Given the description of an element on the screen output the (x, y) to click on. 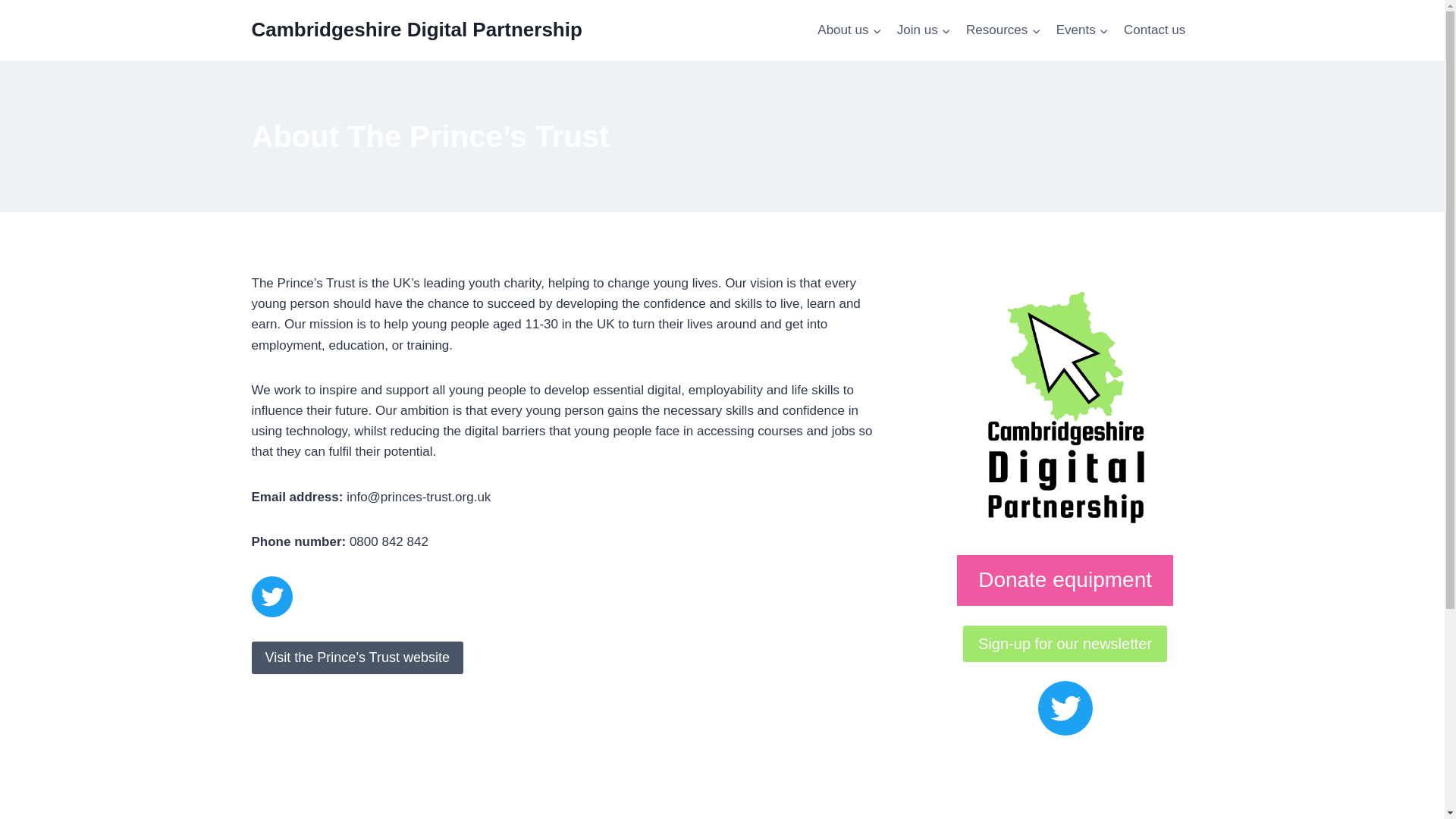
Contact us (1154, 30)
Cambridgeshire Digital Partnership (416, 29)
About us (848, 30)
Resources (1003, 30)
Donate equipment (1064, 580)
Events (1081, 30)
Sign-up for our newsletter (1064, 643)
Twitter (1065, 707)
Join us (923, 30)
Twitter (271, 596)
